Given the description of an element on the screen output the (x, y) to click on. 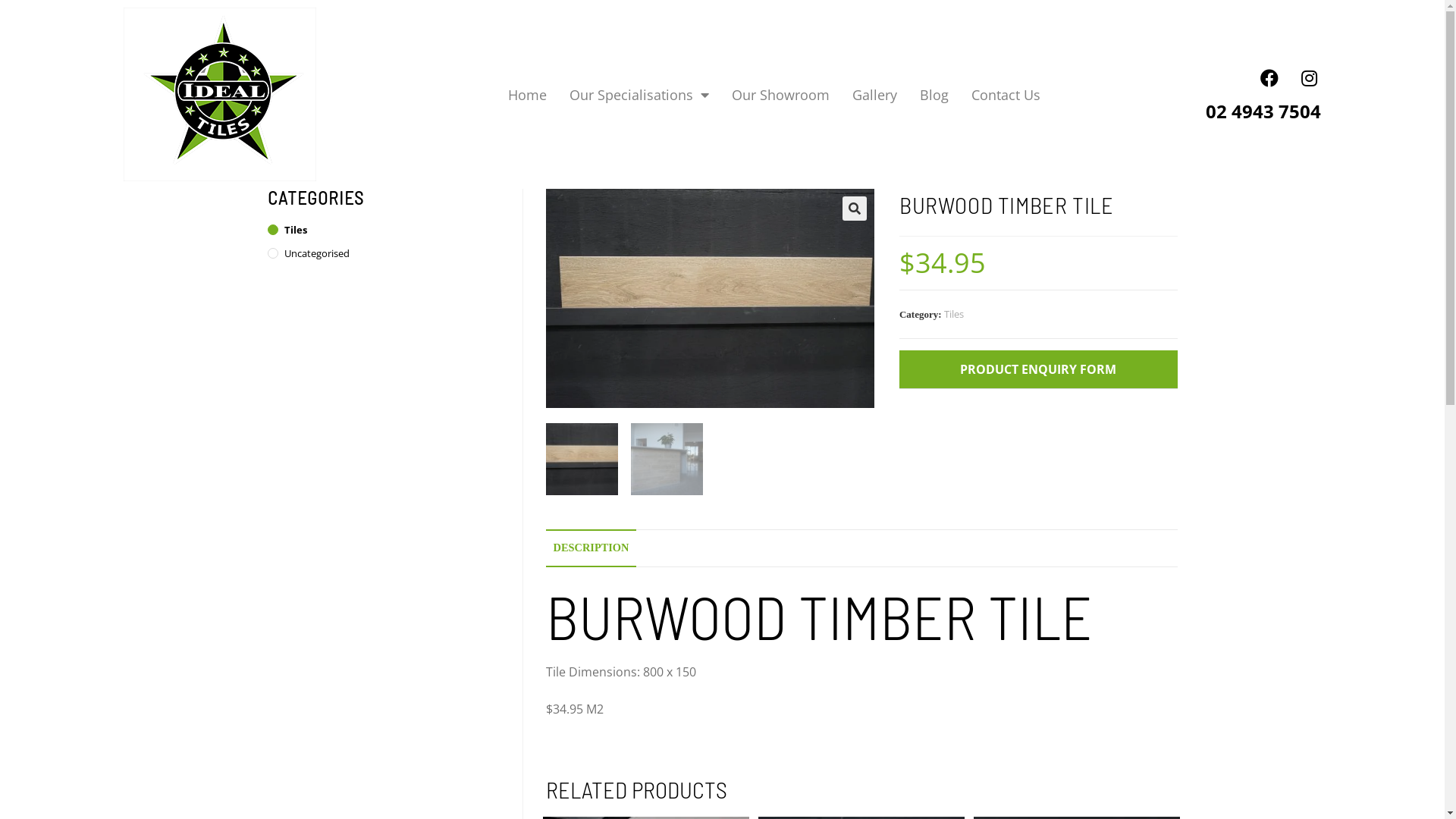
Gallery Element type: text (874, 94)
Tiles Element type: text (382, 230)
437 Element type: text (1104, 24)
Burwood Timber Tile 800x150 $34.95m2 (Large) Element type: hover (710, 297)
Our Specialisations Element type: text (639, 94)
DESCRIPTION Element type: text (591, 548)
Contact Us Element type: text (1005, 94)
PRODUCT ENQUIRY FORM Element type: text (1038, 368)
Tiles Element type: text (953, 313)
Our Showroom Element type: text (780, 94)
Blog Element type: text (934, 94)
Uncategorised Element type: text (382, 253)
02 4943 7504 Element type: text (1263, 110)
Burwood Timber Tile 800x150 Showroom Display (Large) Element type: hover (1038, 297)
Home Element type: text (527, 94)
